Given the description of an element on the screen output the (x, y) to click on. 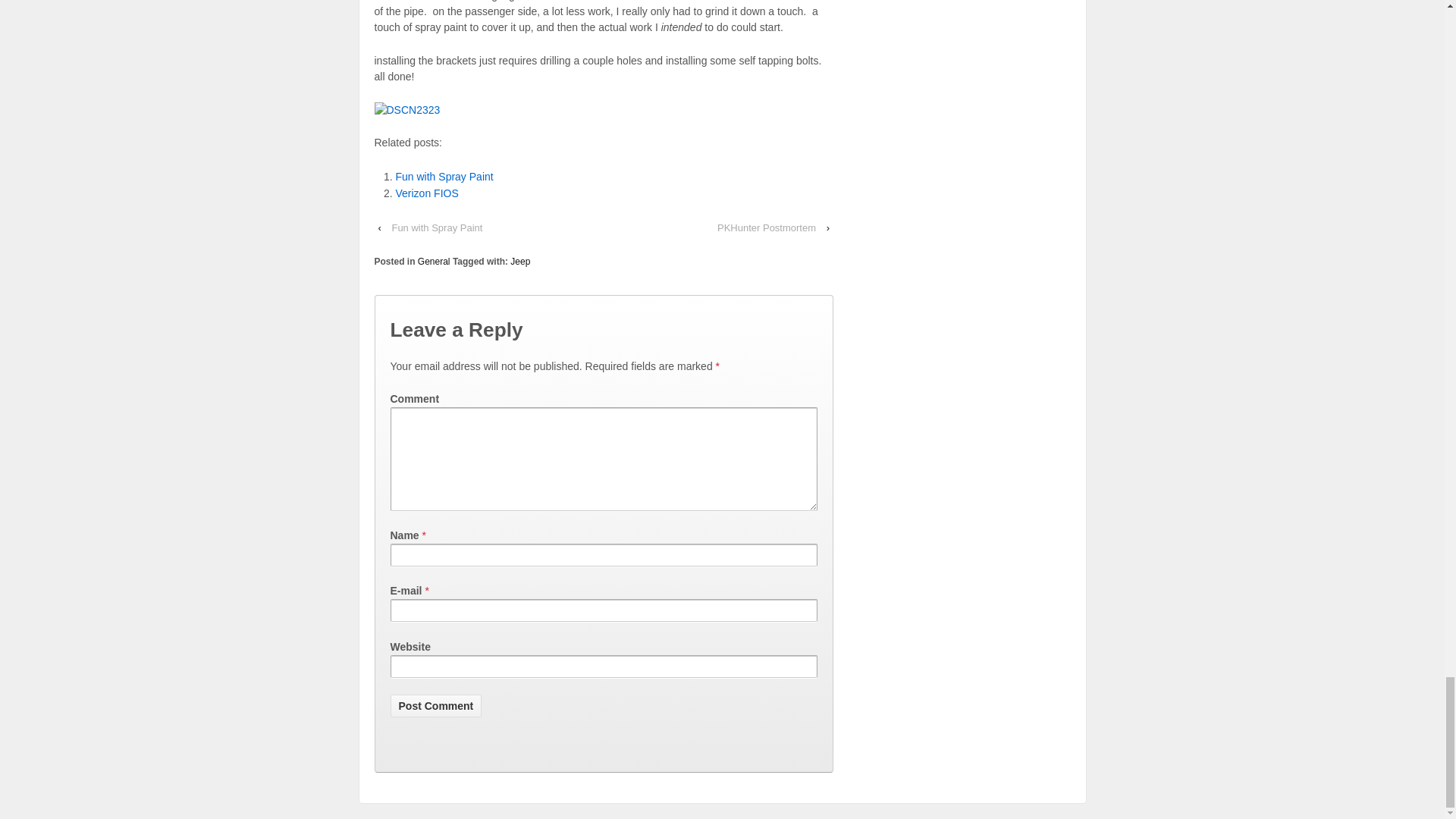
Post Comment (435, 705)
Post Comment (435, 705)
Fun with Spray Paint (436, 227)
General (433, 261)
Verizon FIOS (427, 193)
Fun with Spray Paint (444, 176)
DSCN2323 (407, 109)
PKHunter Postmortem (767, 227)
Jeep (520, 261)
